Given the description of an element on the screen output the (x, y) to click on. 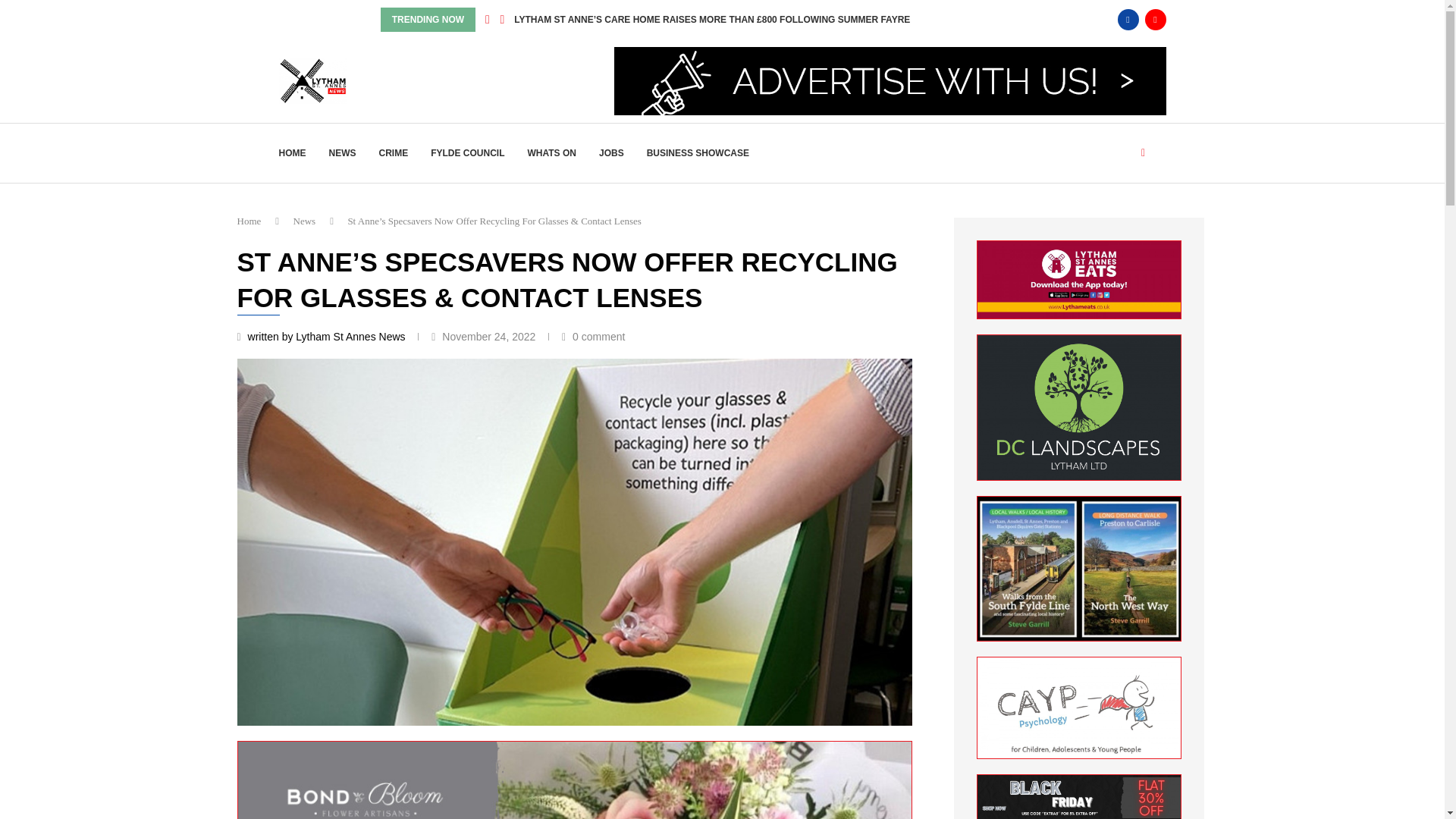
FYLDE COUNCIL (466, 153)
BUSINESS SHOWCASE (697, 153)
WHATS ON (551, 153)
